Given the description of an element on the screen output the (x, y) to click on. 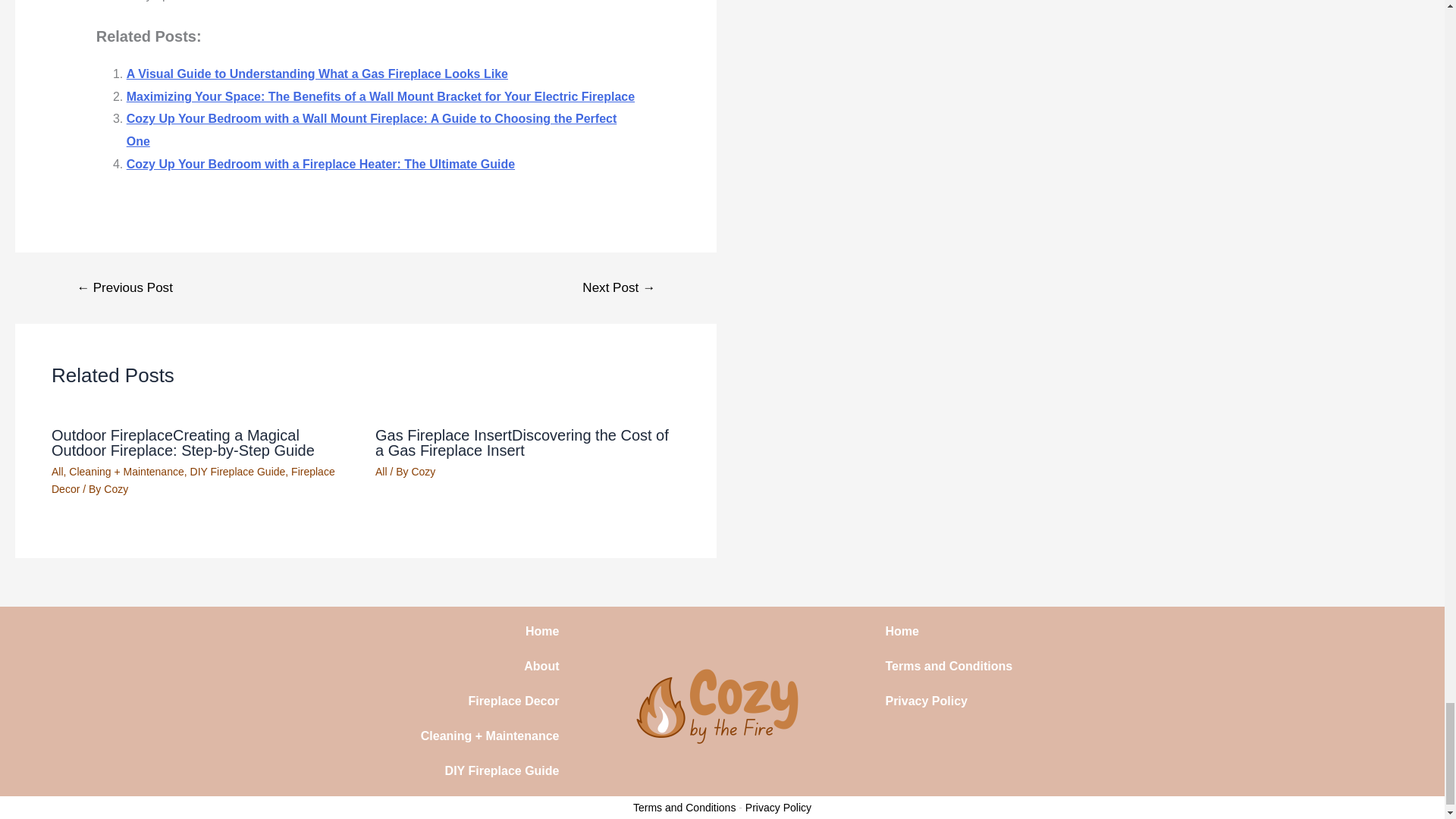
View all posts by Cozy (115, 489)
View all posts by Cozy (422, 471)
